Given the description of an element on the screen output the (x, y) to click on. 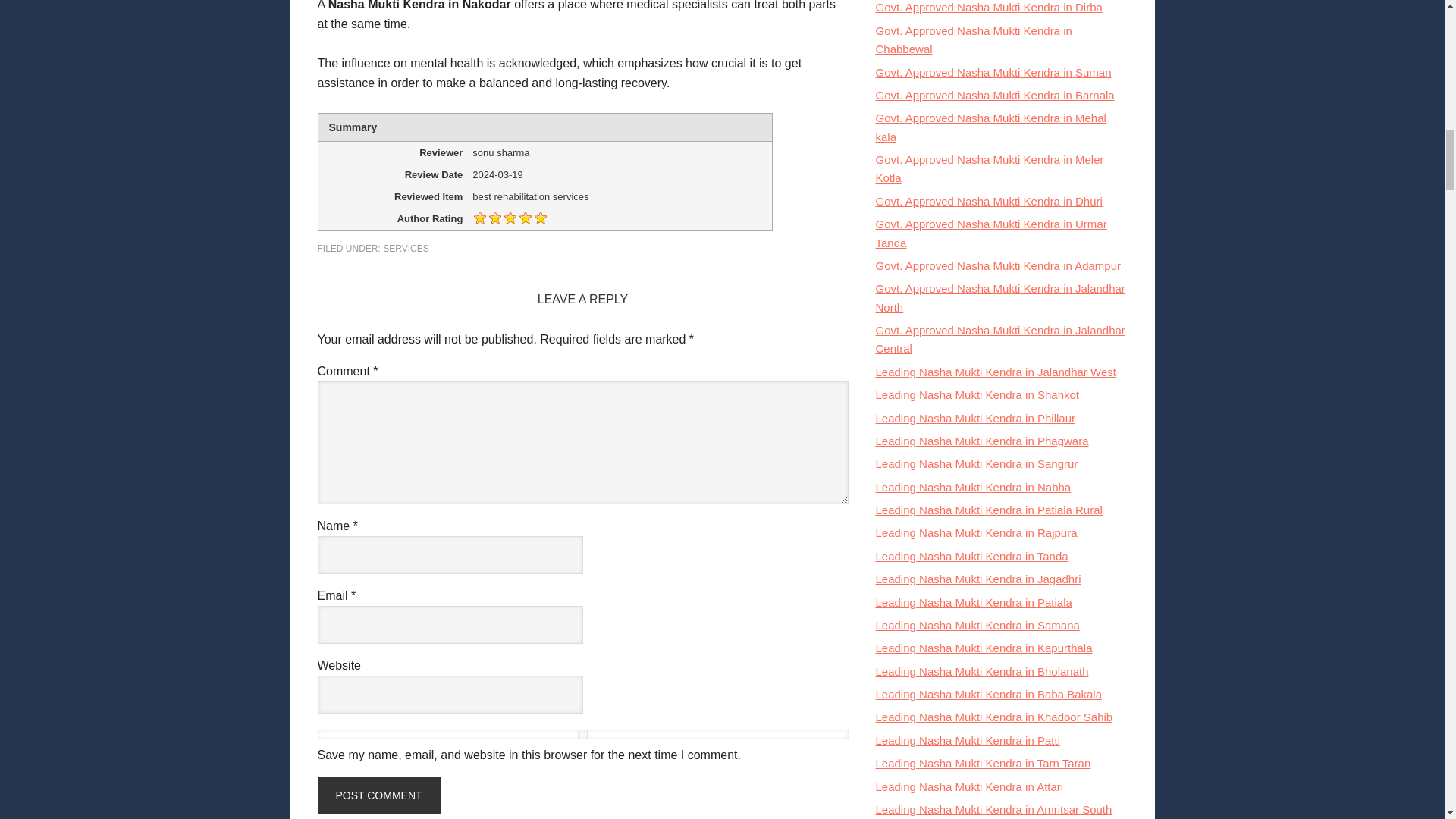
Post Comment (378, 795)
Post Comment (378, 795)
SERVICES (405, 248)
yes (582, 734)
